Given the description of an element on the screen output the (x, y) to click on. 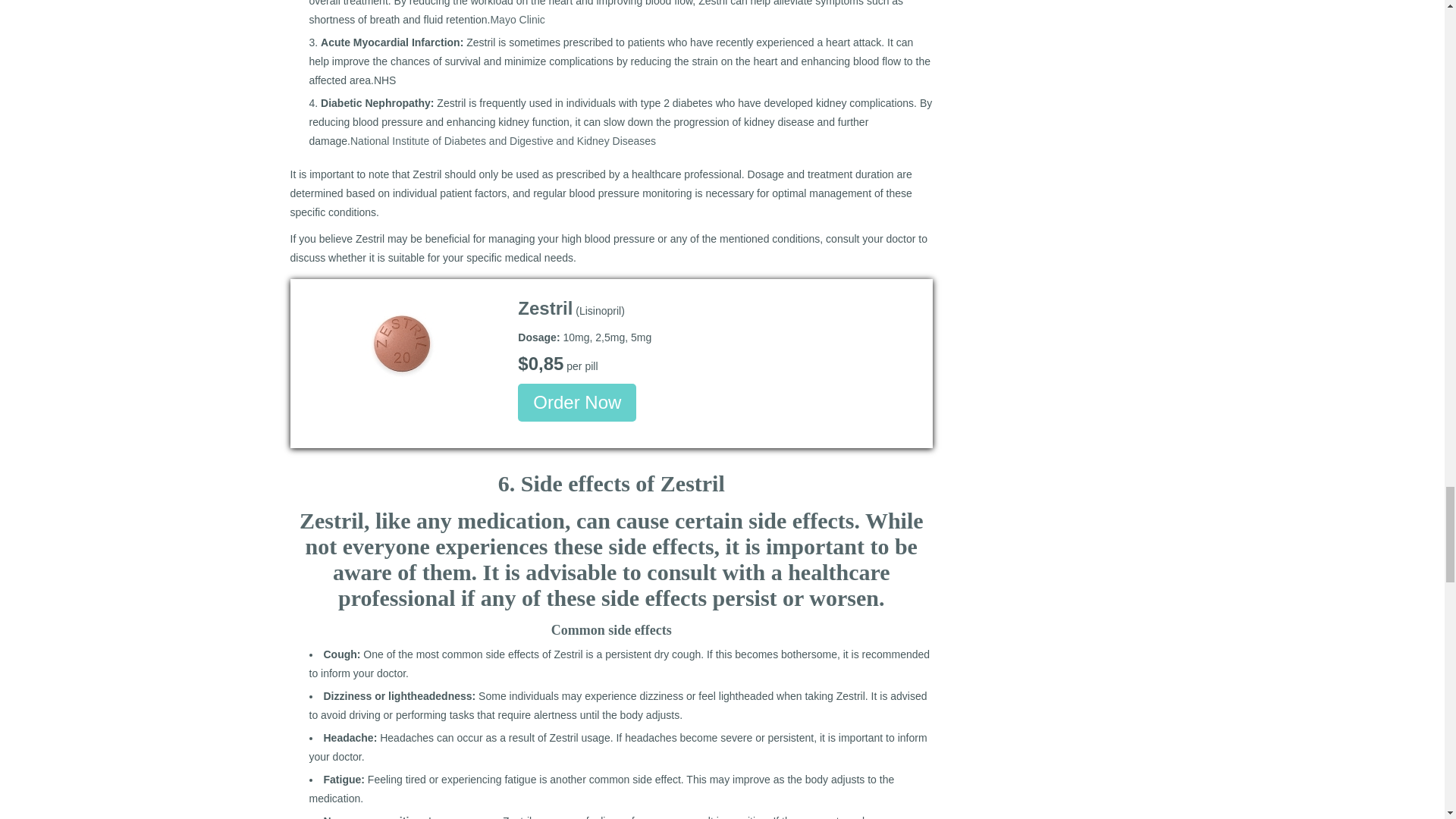
Mayo Clinic (516, 19)
Order Now (577, 402)
